Given the description of an element on the screen output the (x, y) to click on. 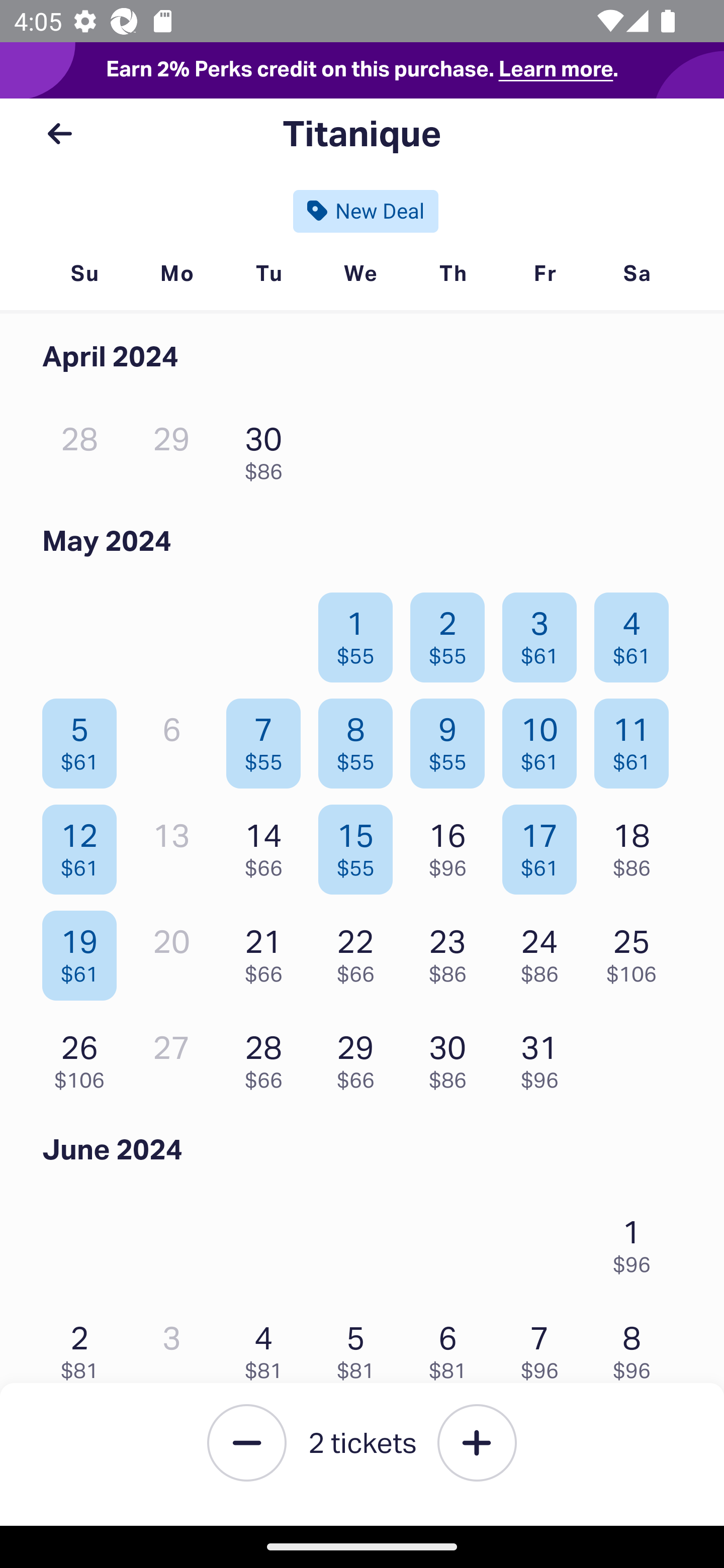
Earn 2% Perks credit on this purchase. Learn more. (362, 70)
back button (59, 133)
New Deal (365, 210)
30 $86 (268, 448)
1 $55 (360, 632)
2 $55 (452, 632)
3 $61 (544, 632)
4 $61 (636, 632)
5 $61 (84, 738)
7 $55 (268, 738)
8 $55 (360, 738)
9 $55 (452, 738)
10 $61 (544, 738)
11 $61 (636, 738)
12 $61 (84, 844)
14 $66 (268, 844)
15 $55 (360, 844)
16 $96 (452, 844)
17 $61 (544, 844)
18 $86 (636, 844)
19 $61 (84, 950)
21 $66 (268, 950)
22 $66 (360, 950)
23 $86 (452, 950)
24 $86 (544, 950)
25 $106 (636, 950)
26 $106 (84, 1057)
28 $66 (268, 1057)
29 $66 (360, 1057)
30 $86 (452, 1057)
31 $96 (544, 1057)
1 $96 (636, 1240)
2 $81 (84, 1347)
4 $81 (268, 1347)
5 $81 (360, 1347)
6 $81 (452, 1347)
7 $96 (544, 1347)
8 $96 (636, 1347)
